Given the description of an element on the screen output the (x, y) to click on. 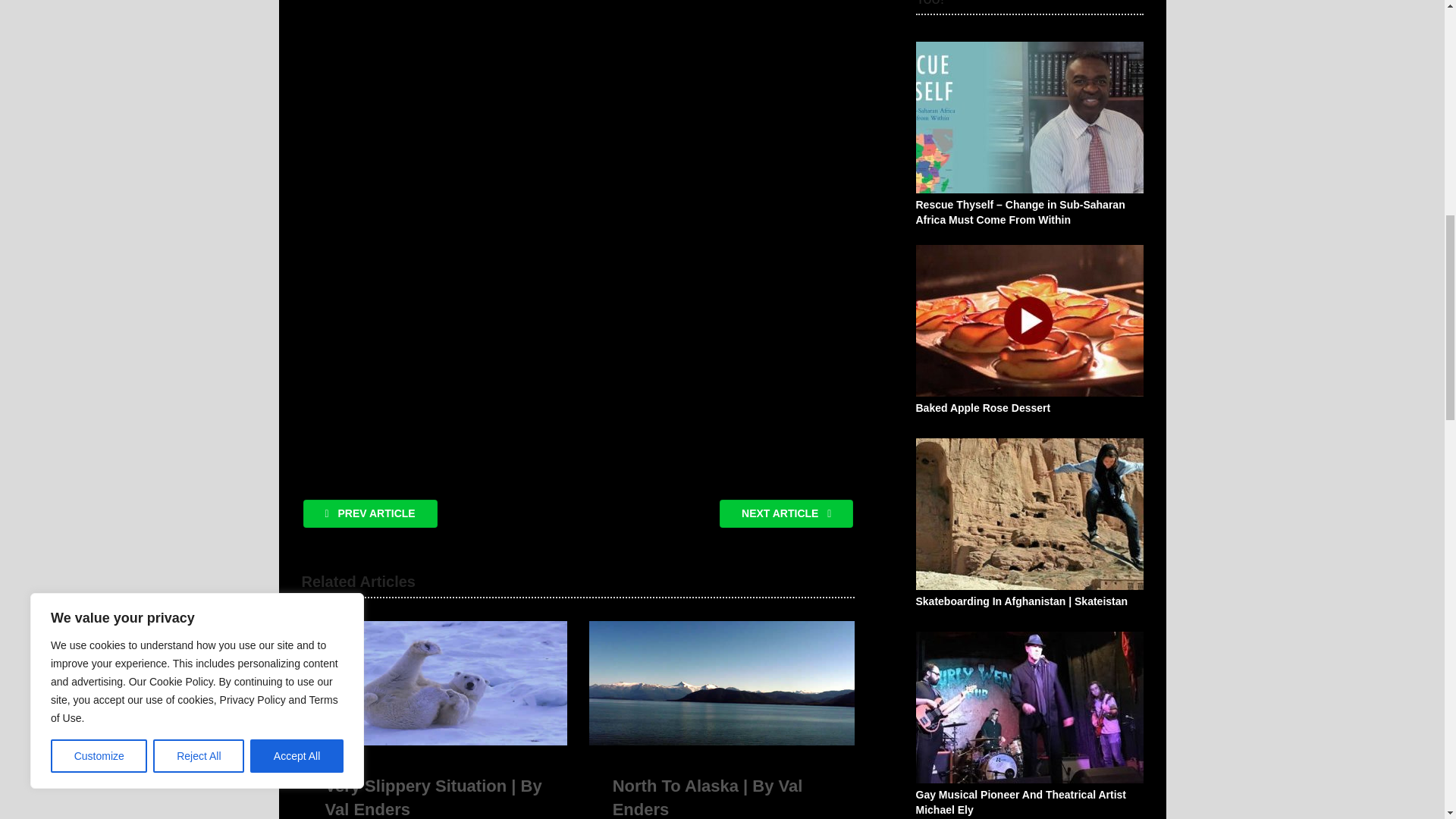
PREV ARTICLE (370, 513)
NEXT ARTICLE (786, 513)
